Given the description of an element on the screen output the (x, y) to click on. 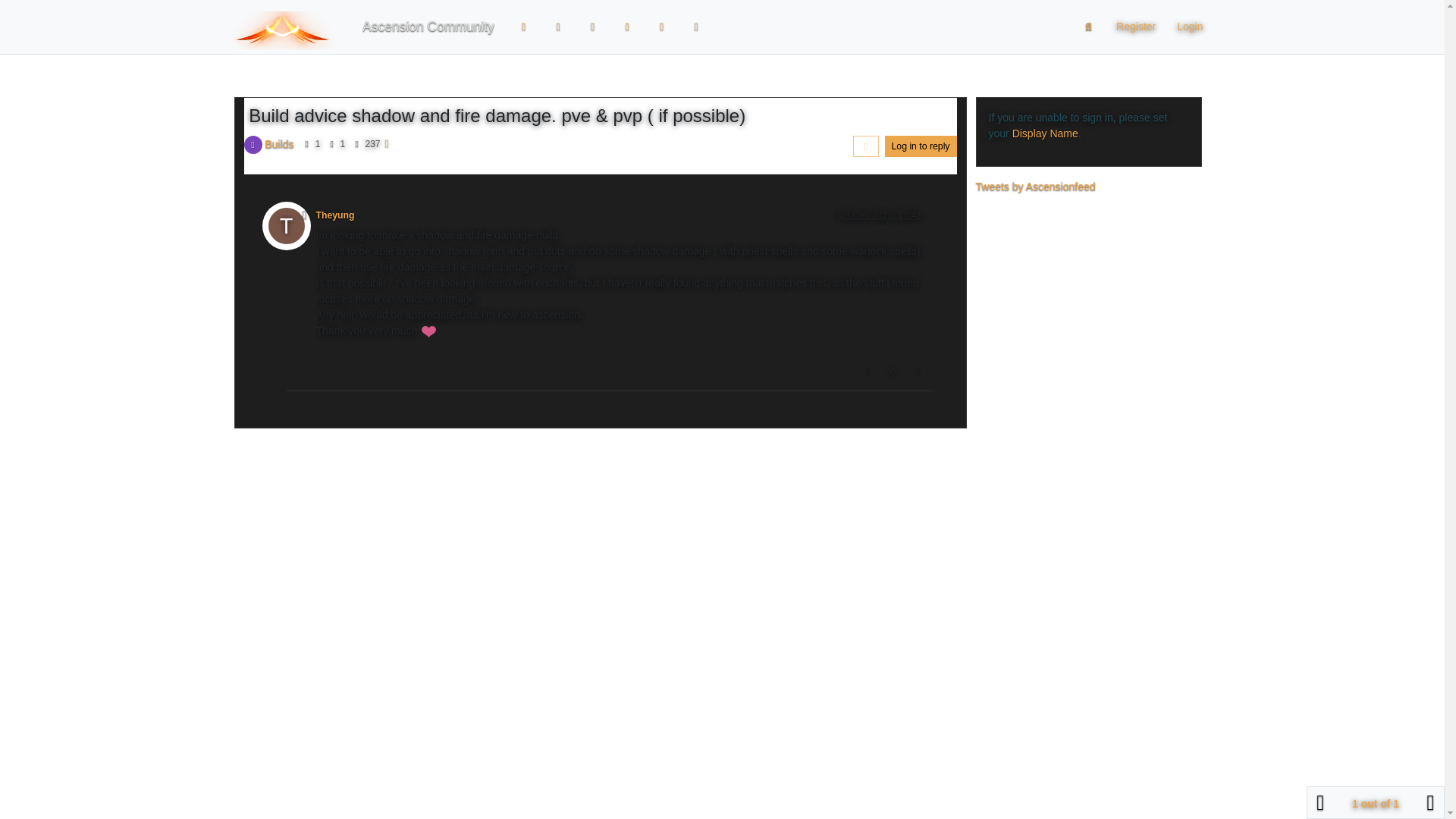
Search (1088, 27)
Users (662, 26)
Groups (696, 26)
Categories (523, 26)
Log in to reply (920, 146)
Tags (592, 26)
Login (1189, 26)
Builds (279, 143)
Recent (558, 26)
29 Dec 2022, 12:42 (880, 214)
T (291, 229)
Ascension Community (428, 26)
Register (1135, 26)
Popular (627, 26)
Theyung (334, 214)
